Given the description of an element on the screen output the (x, y) to click on. 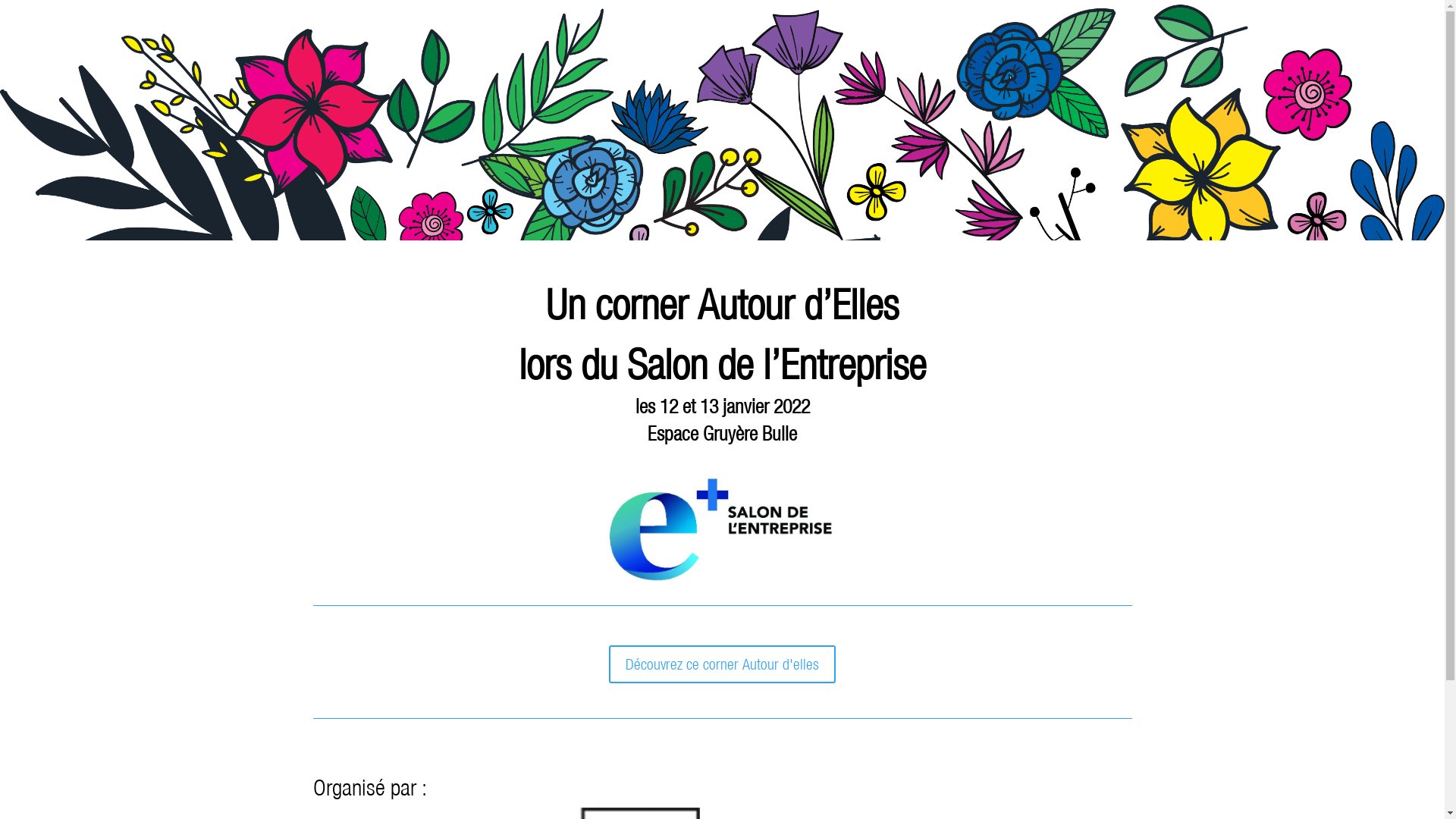
E+_logoRVB Element type: hover (721, 528)
